Given the description of an element on the screen output the (x, y) to click on. 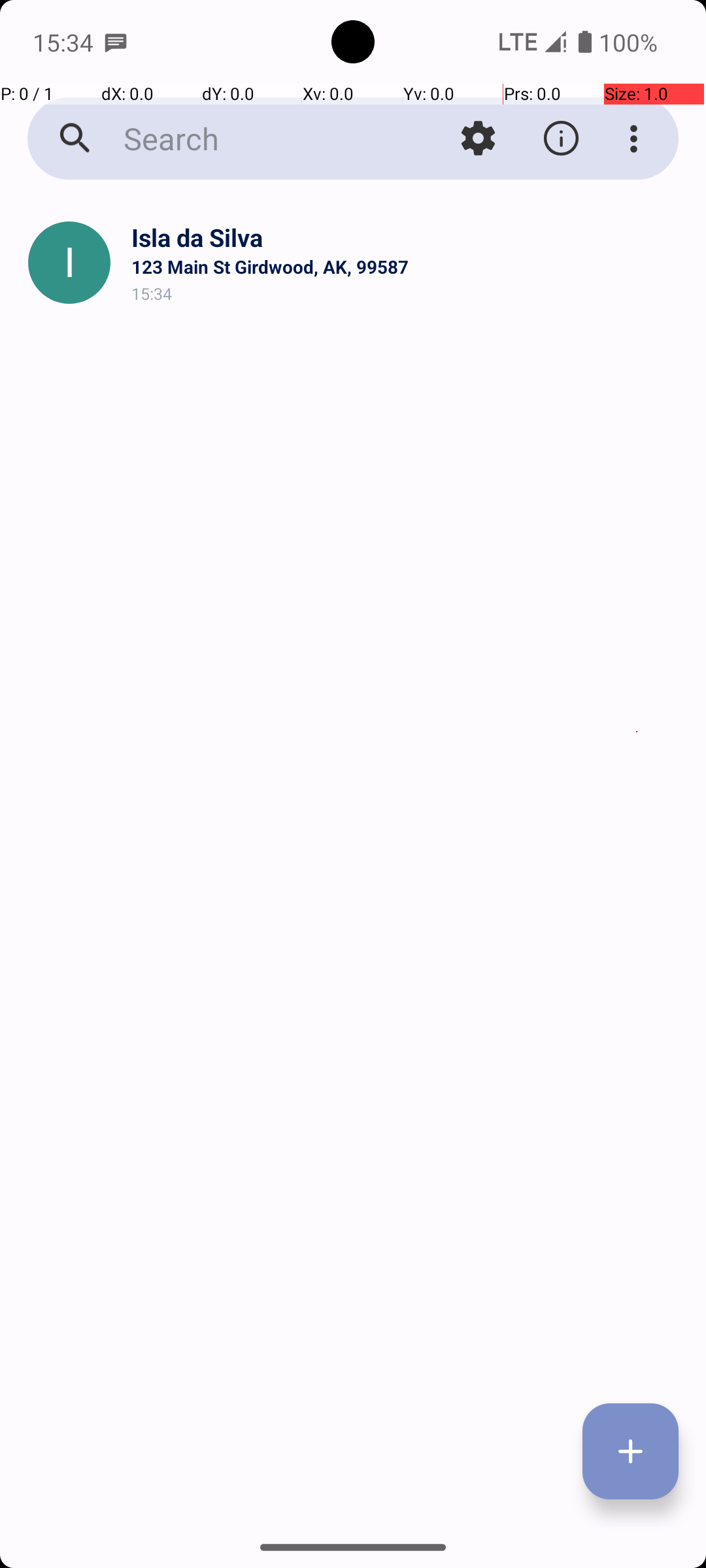
Isla da Silva Element type: android.widget.TextView (408, 237)
123 Main St Girdwood, AK, 99587 Element type: android.widget.TextView (408, 266)
SMS Messenger notification: Isla da Silva Element type: android.widget.ImageView (115, 41)
